Given the description of an element on the screen output the (x, y) to click on. 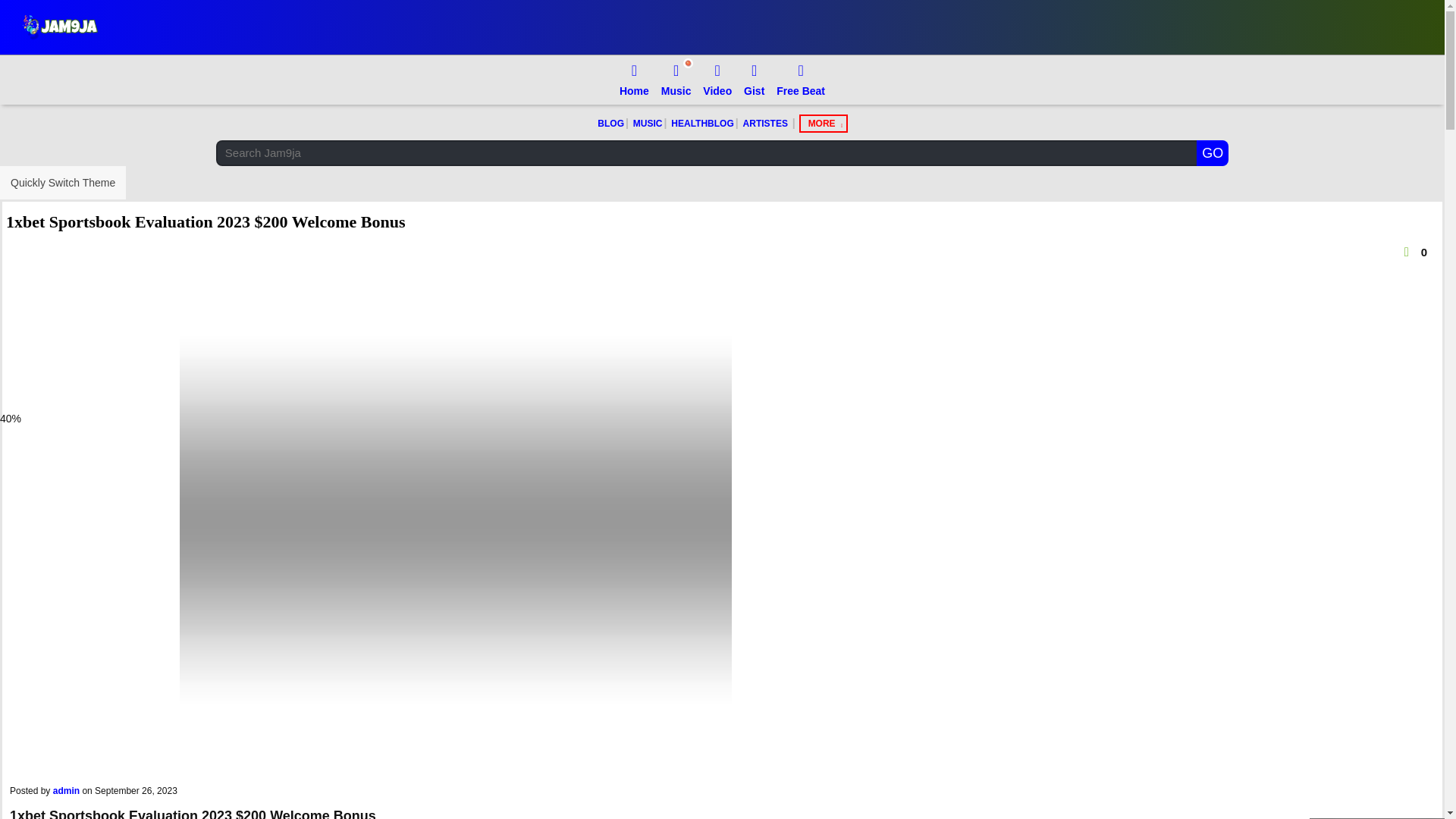
ARTISTES (765, 124)
Quickly Switch Theme (62, 182)
Posts by admin (66, 790)
Quickly Switch Theme (62, 182)
Free Beat (800, 79)
BLOG (610, 124)
GO (1212, 153)
HEALTHBLOG (701, 124)
MUSIC (647, 124)
admin (66, 790)
